Given the description of an element on the screen output the (x, y) to click on. 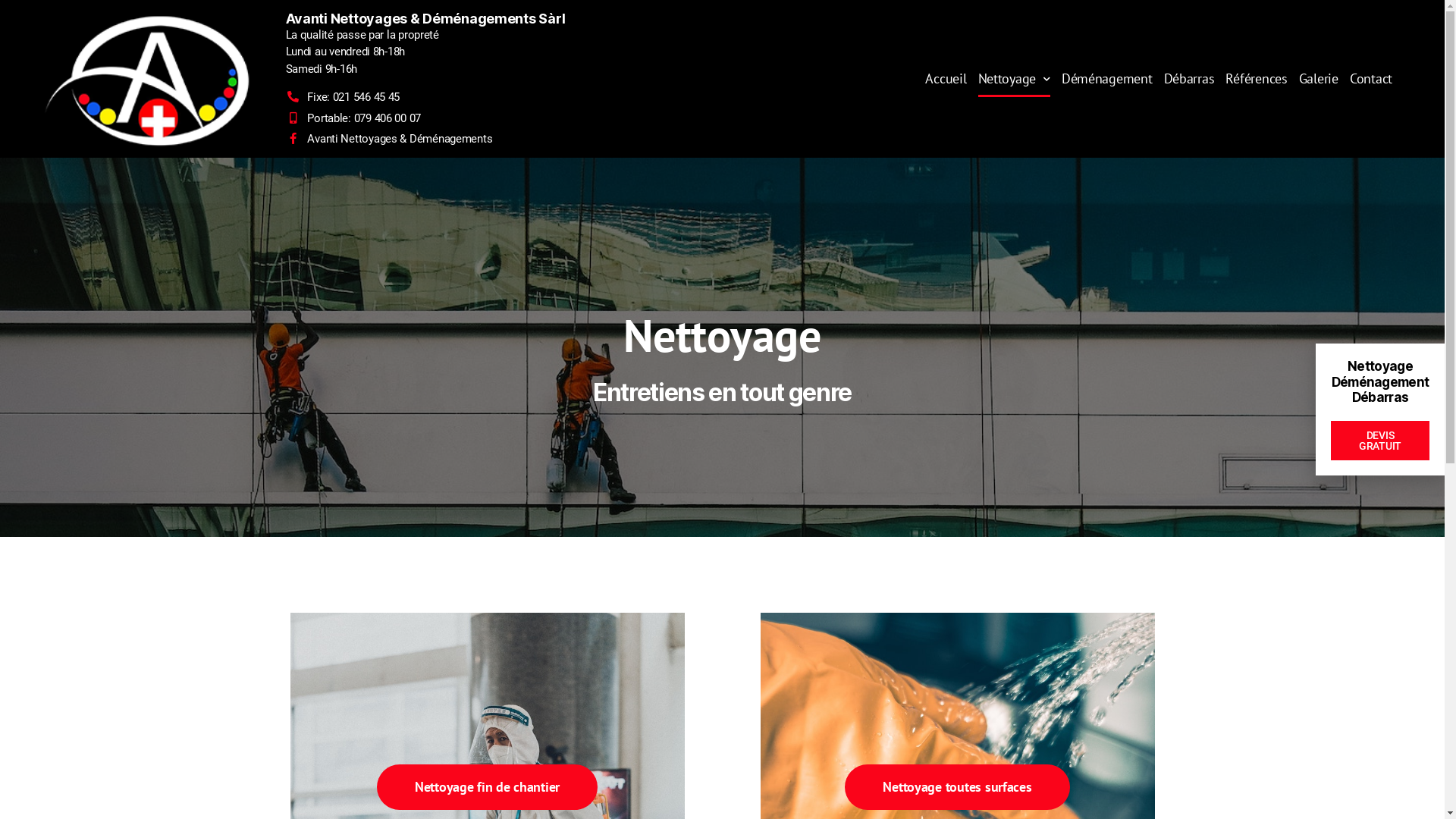
Galerie Element type: text (1318, 78)
Nettoyage Element type: text (1014, 78)
Fixe: 021 546 45 45 Element type: text (507, 97)
DEVIS GRATUIT Element type: text (1379, 440)
Nettoyage toutes surfaces Element type: text (956, 786)
Nettoyage fin de chantier Element type: text (486, 786)
Accueil Element type: text (945, 78)
Contact Element type: text (1370, 78)
